Given the description of an element on the screen output the (x, y) to click on. 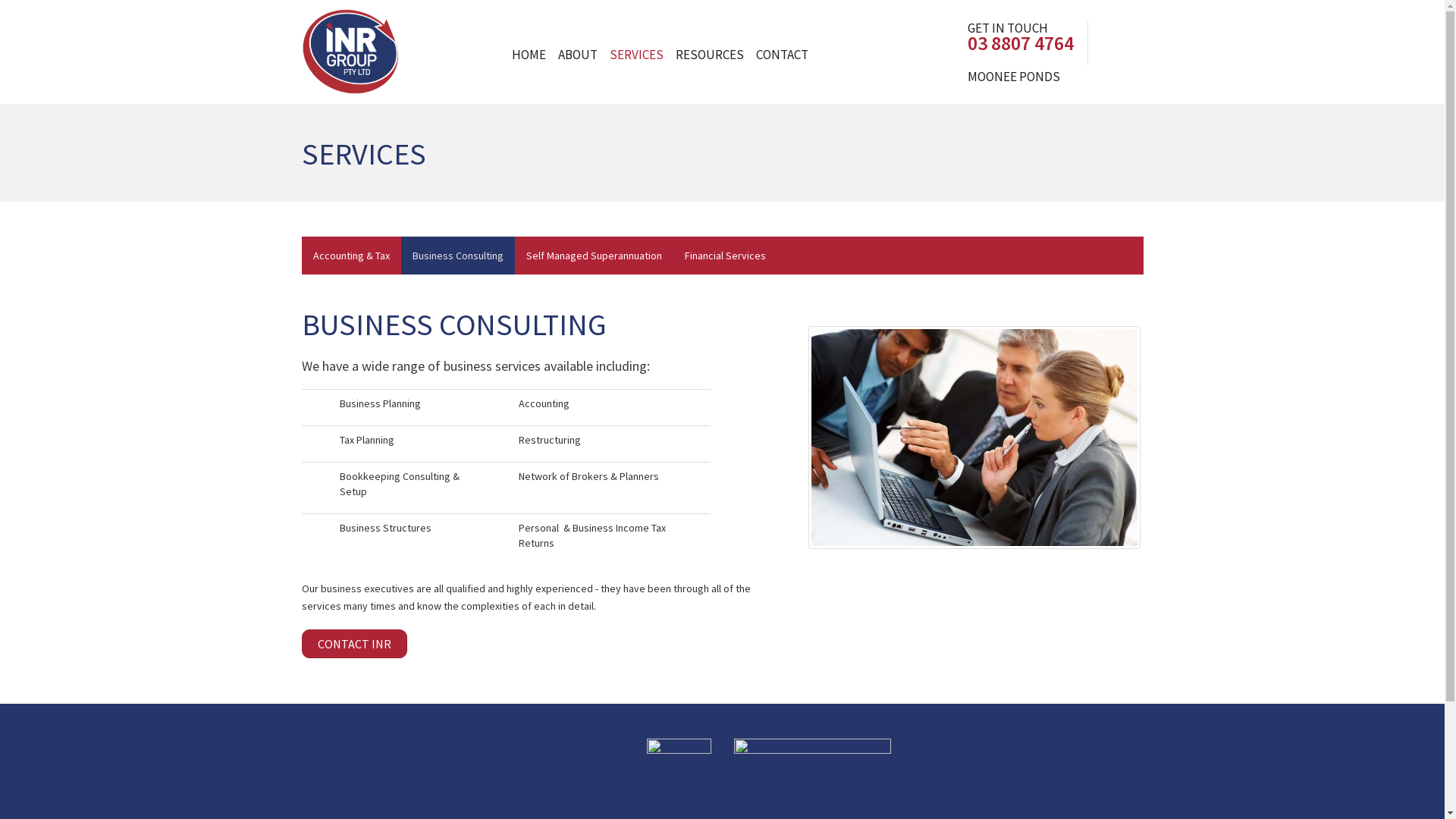
Financial Services Element type: text (725, 255)
RESOURCES Element type: text (708, 54)
ABOUT Element type: text (577, 54)
Self Managed Superannuation Element type: text (593, 255)
CONTACT Element type: text (781, 54)
SERVICES Element type: text (636, 54)
Accounting & Tax Element type: text (351, 255)
Business Consulting Element type: text (457, 255)
HOME Element type: text (528, 54)
MOONEE PONDS Element type: text (1013, 76)
CONTACT INR Element type: text (354, 643)
03 8807 4764 Element type: text (1020, 35)
LOGIN Element type: text (1106, 42)
